Given the description of an element on the screen output the (x, y) to click on. 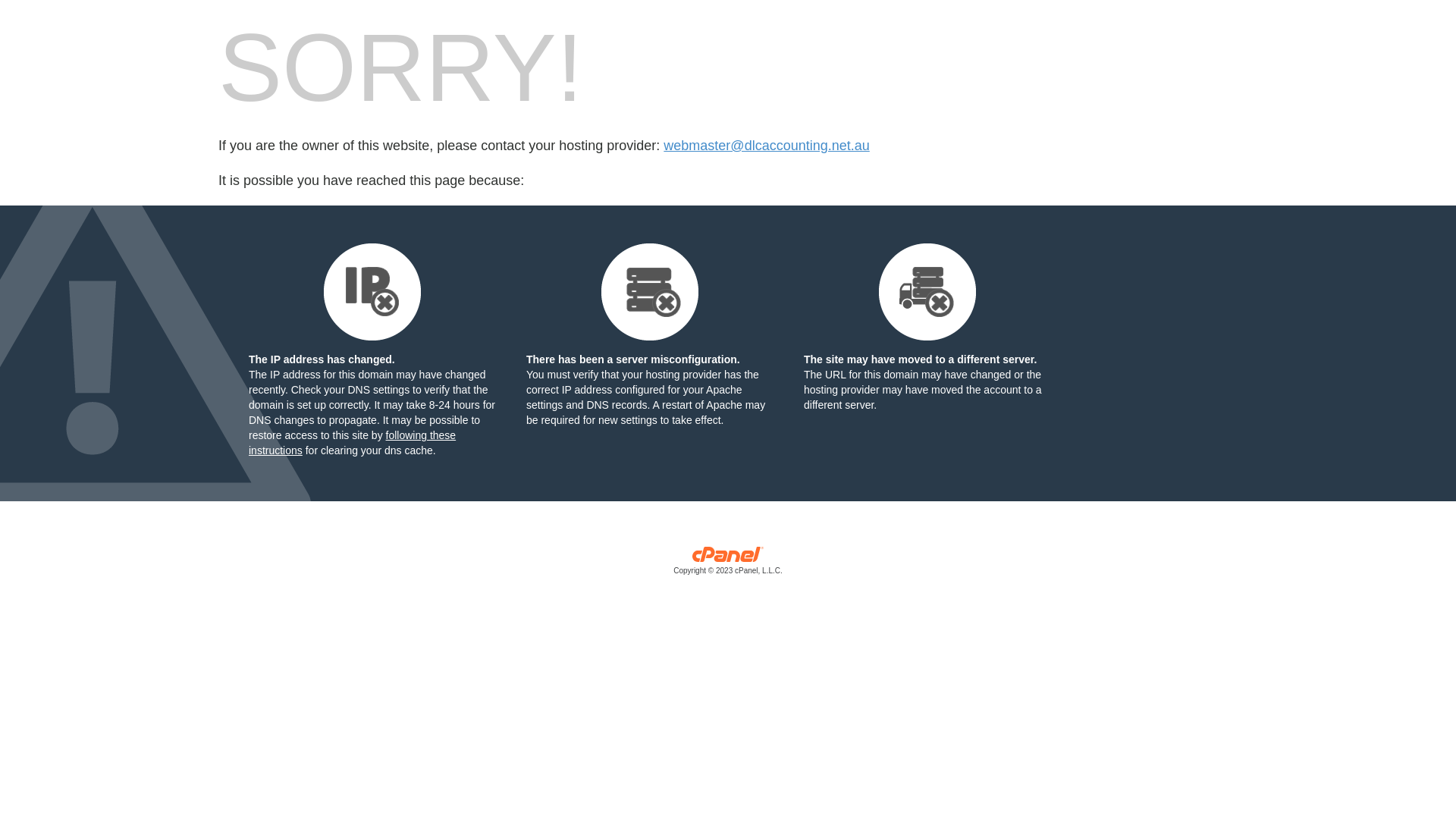
following these instructions Element type: text (351, 442)
webmaster@dlcaccounting.net.au Element type: text (766, 145)
